Given the description of an element on the screen output the (x, y) to click on. 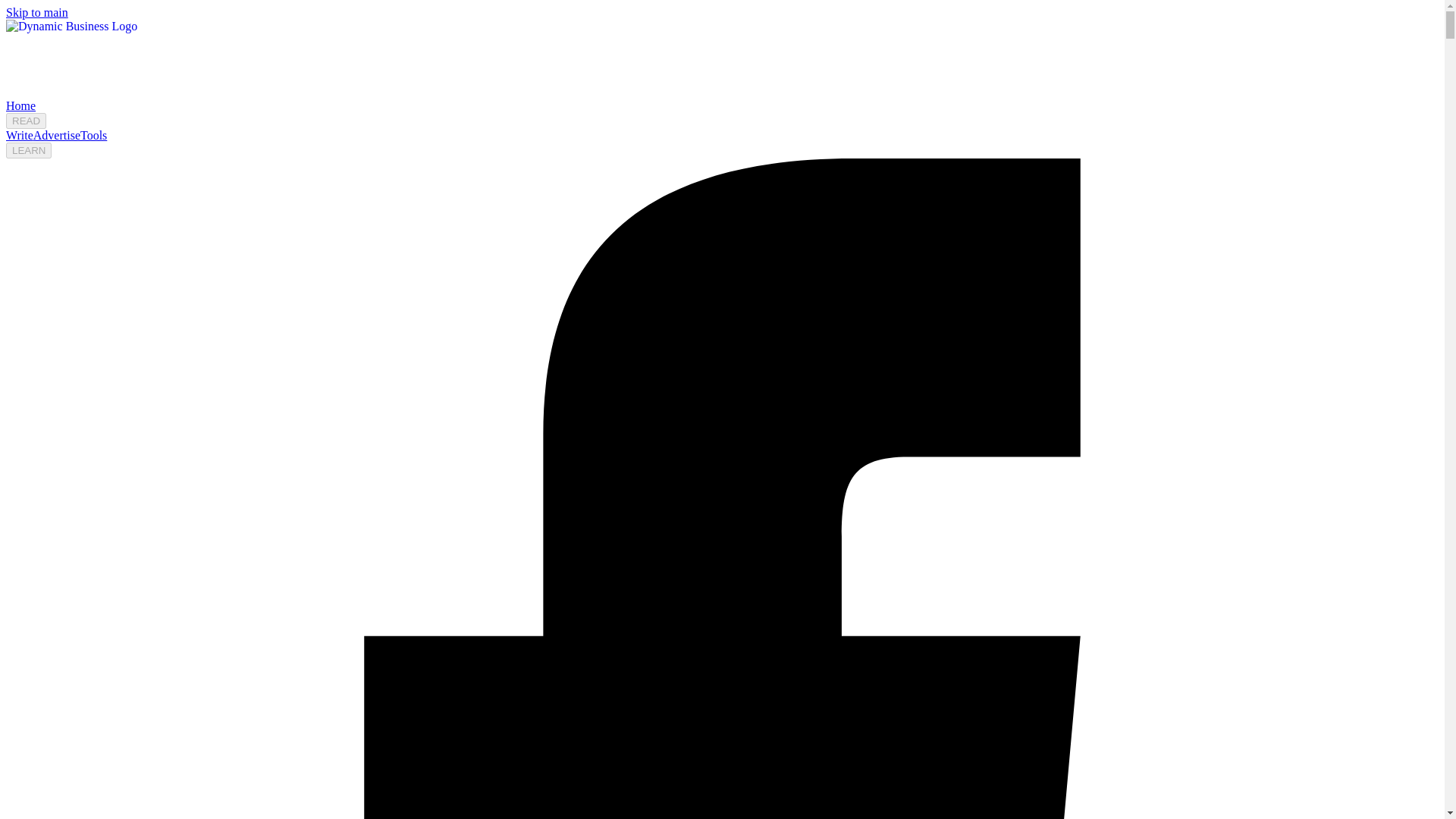
Skip to main (36, 11)
Write (19, 134)
Advertise (56, 134)
READ (25, 120)
LEARN (27, 150)
Home (19, 105)
Tools (93, 134)
